Given the description of an element on the screen output the (x, y) to click on. 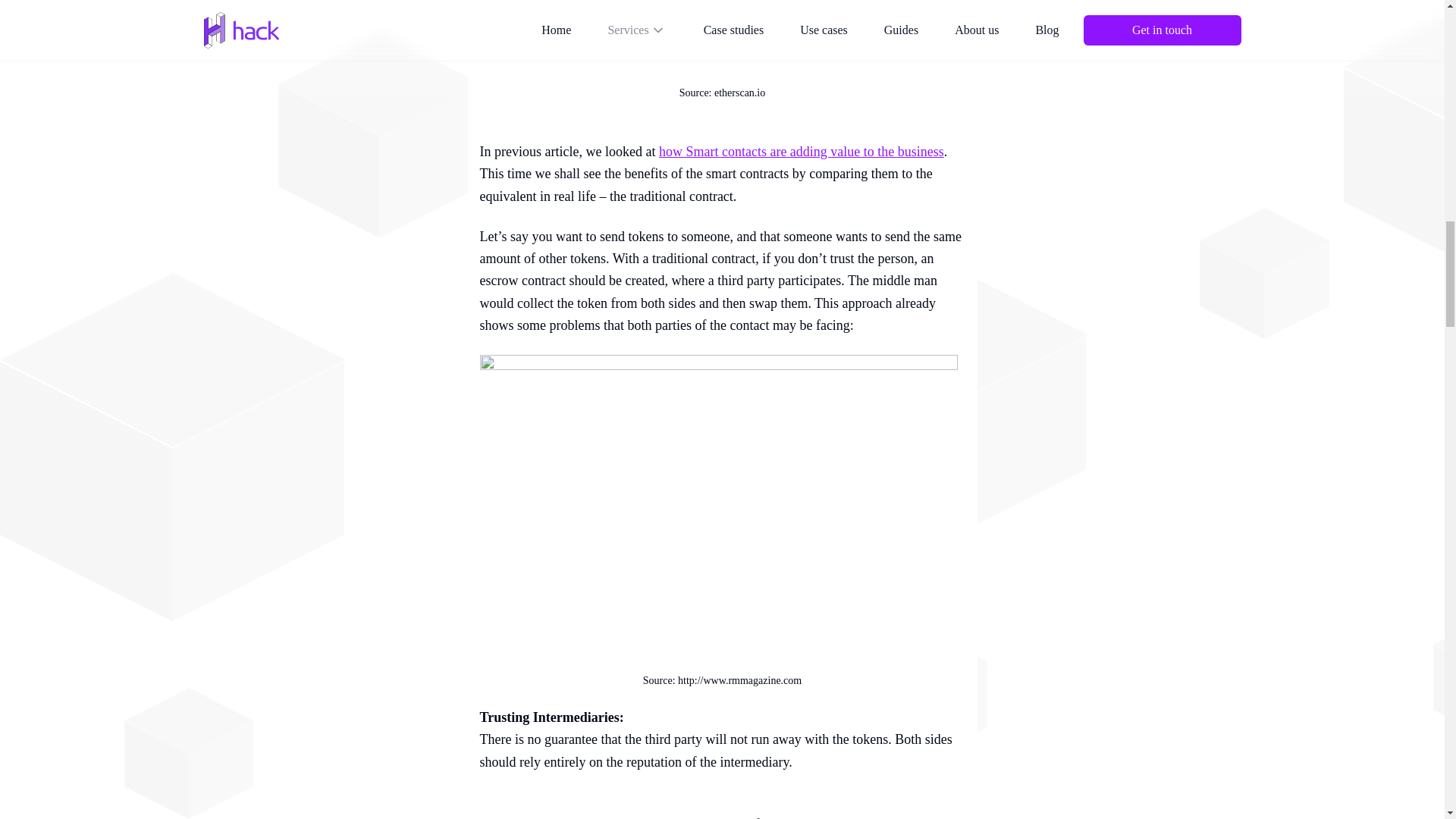
how Smart contacts are adding value to the business (801, 151)
